Given the description of an element on the screen output the (x, y) to click on. 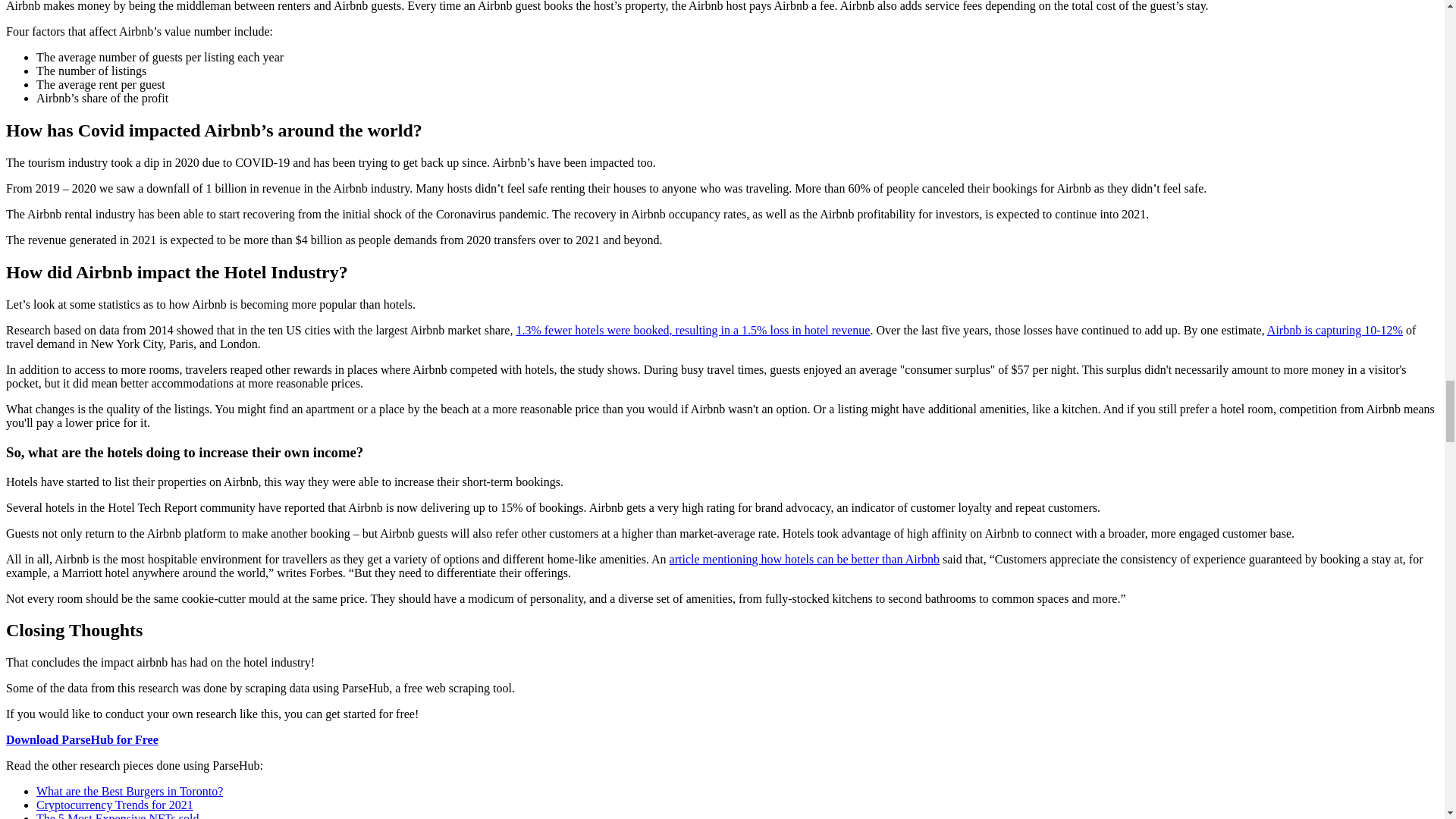
Cryptocurrency Trends for 2021 (114, 804)
What are the Best Burgers in Toronto? (129, 790)
The 5 Most Expensive NFTs sold (117, 815)
Download ParseHub for Free (81, 739)
article mentioning how hotels can be better than Airbnb (804, 558)
